Given the description of an element on the screen output the (x, y) to click on. 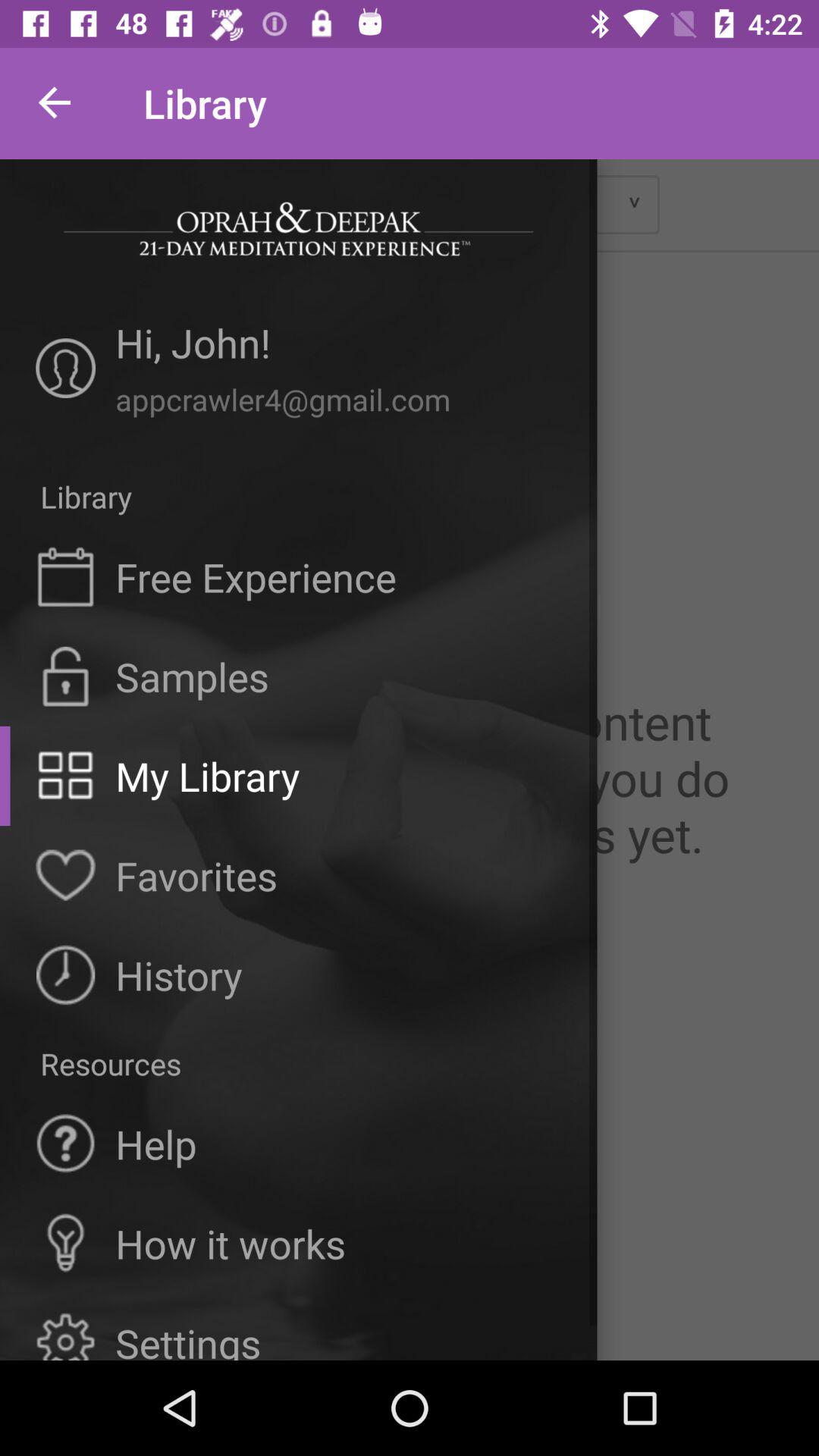
press the free experience (255, 576)
